Given the description of an element on the screen output the (x, y) to click on. 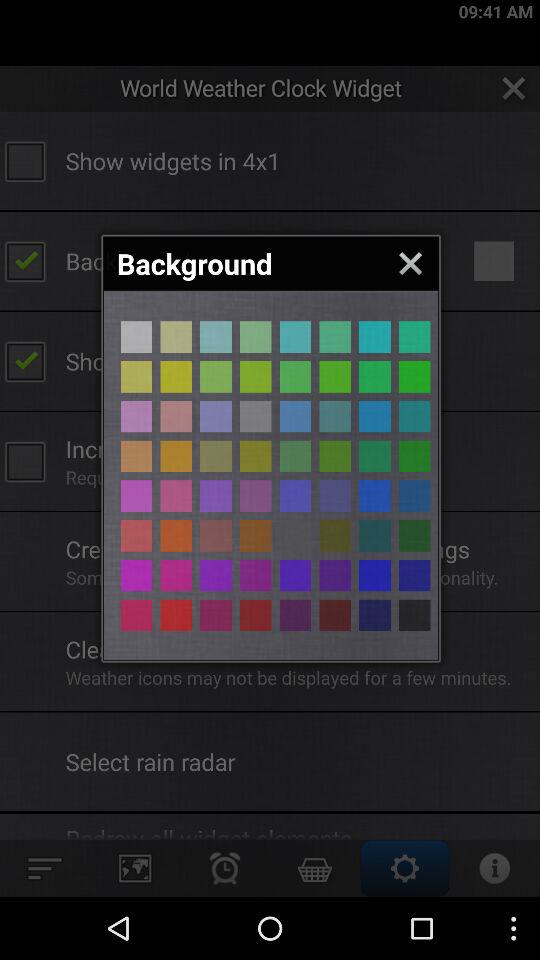
different colour page (176, 416)
